Given the description of an element on the screen output the (x, y) to click on. 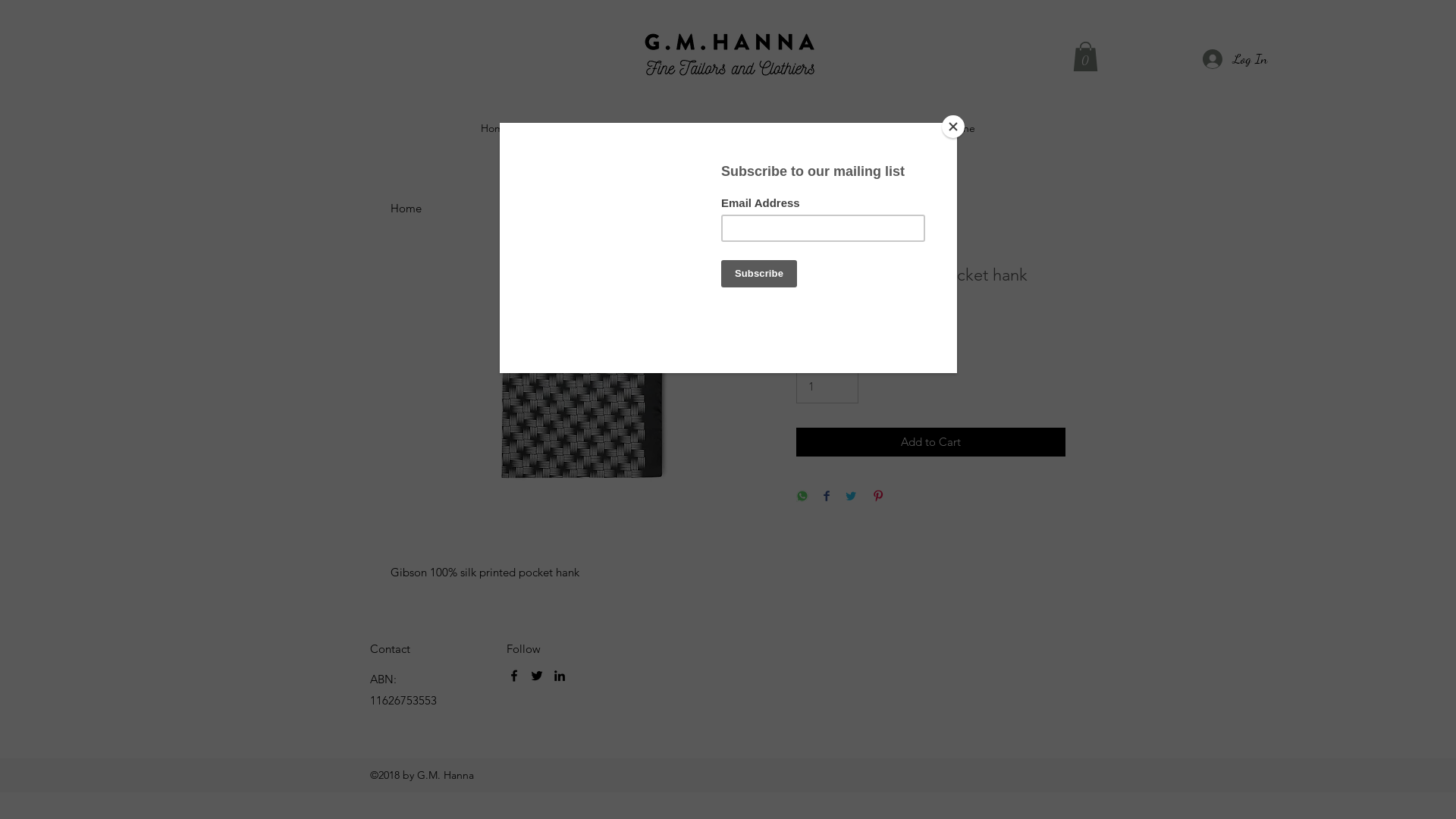
Home Element type: text (495, 127)
Add to Cart Element type: text (930, 442)
Shop Element type: text (537, 127)
Made to Measure Suits Element type: text (682, 127)
0 Element type: text (1085, 56)
Weddings Element type: text (777, 127)
Collection Element type: text (588, 127)
About Element type: text (832, 127)
Log In Element type: text (1228, 58)
Book Online Element type: text (945, 127)
Home Element type: text (405, 207)
Contact Element type: text (881, 127)
